Given the description of an element on the screen output the (x, y) to click on. 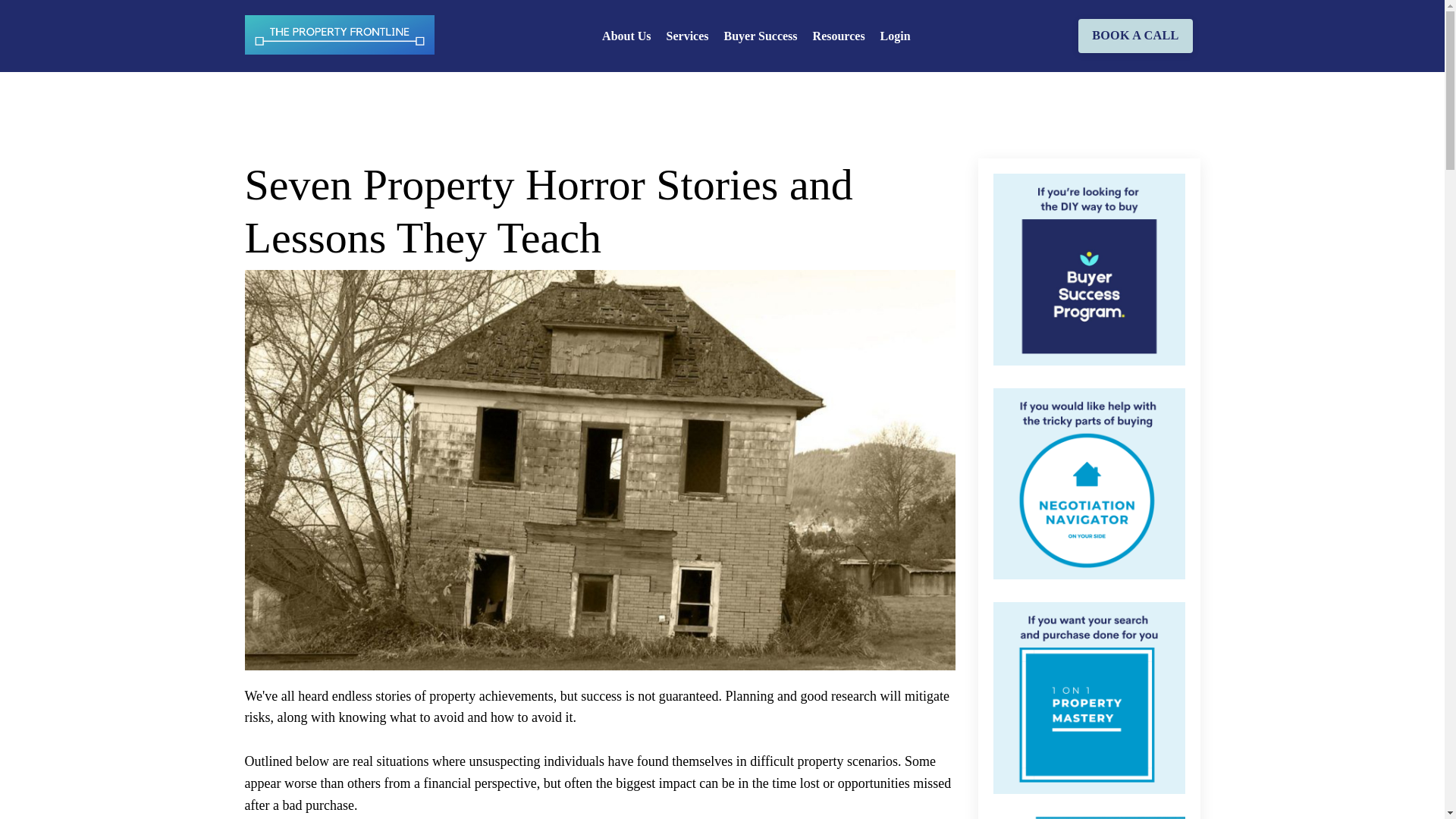
Services (687, 35)
Resources (838, 35)
Buyer Success (760, 35)
Login (895, 35)
BOOK A CALL (1135, 35)
About Us (626, 35)
